Given the description of an element on the screen output the (x, y) to click on. 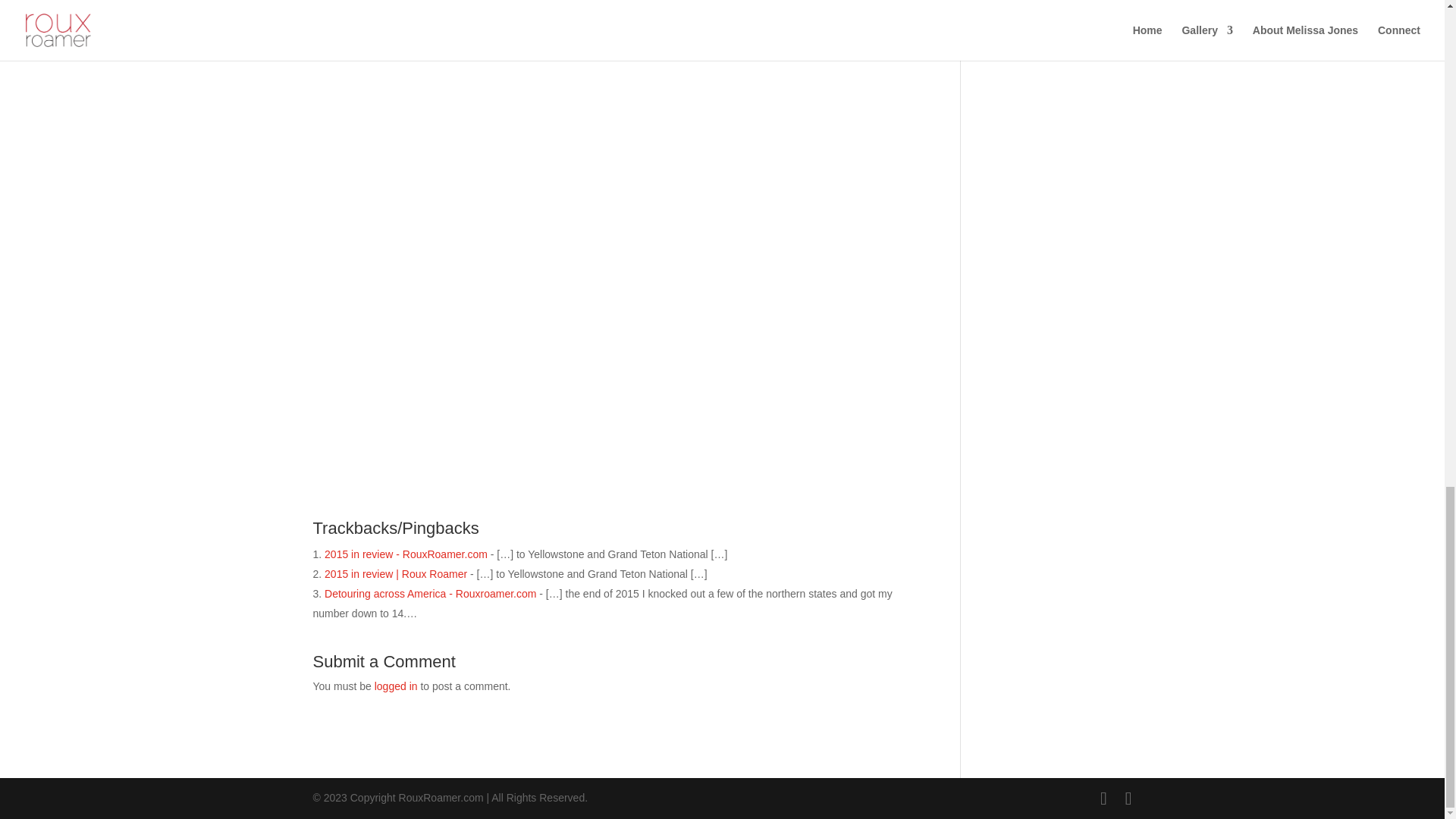
Detouring across America - Rouxroamer.com (429, 593)
logged in (395, 686)
2015 in review - RouxRoamer.com (405, 553)
